Given the description of an element on the screen output the (x, y) to click on. 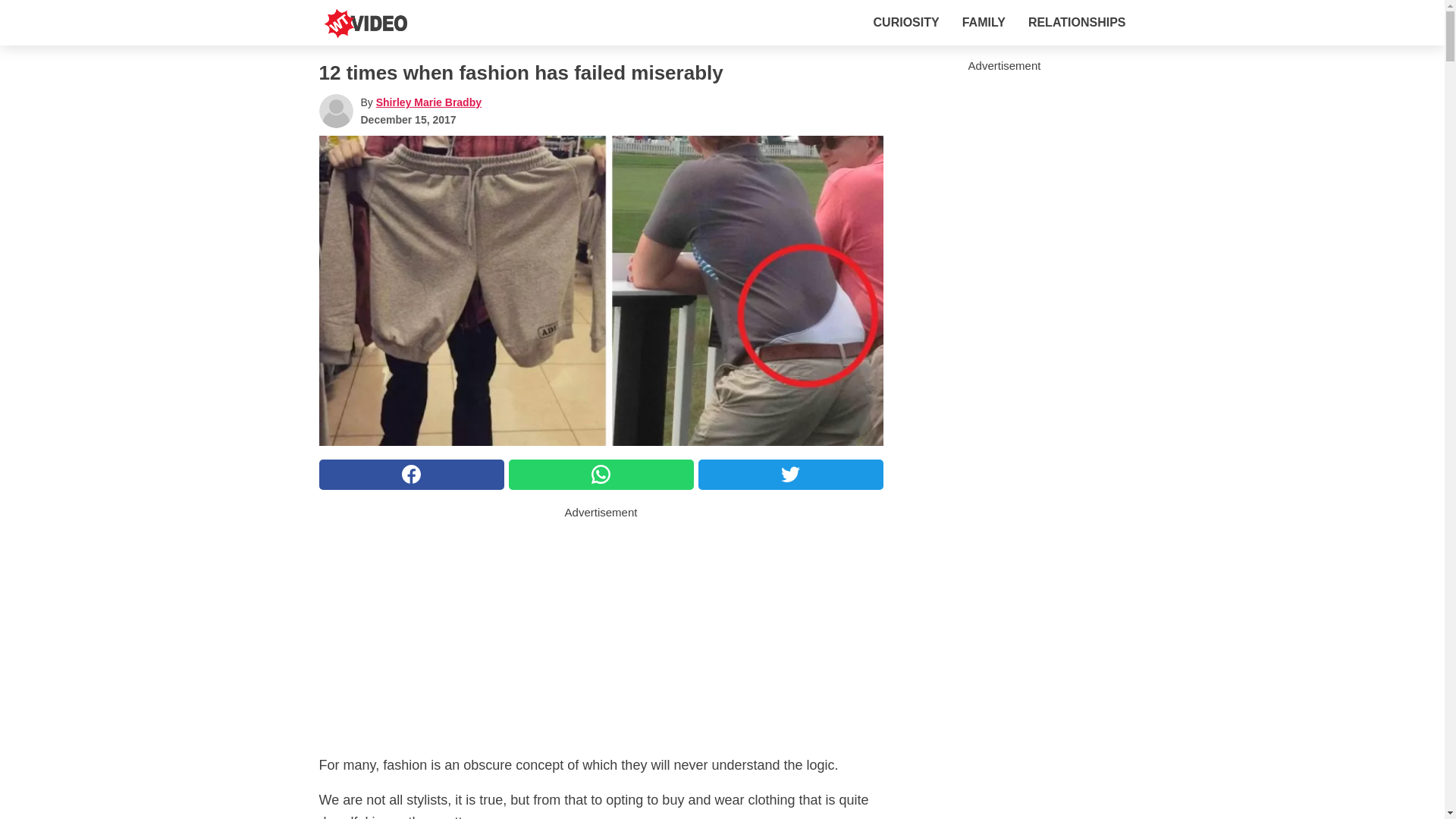
FAMILY (984, 22)
RELATIONSHIPS (1076, 22)
Shirley Marie Bradby (428, 102)
CURIOSITY (906, 22)
